Given the description of an element on the screen output the (x, y) to click on. 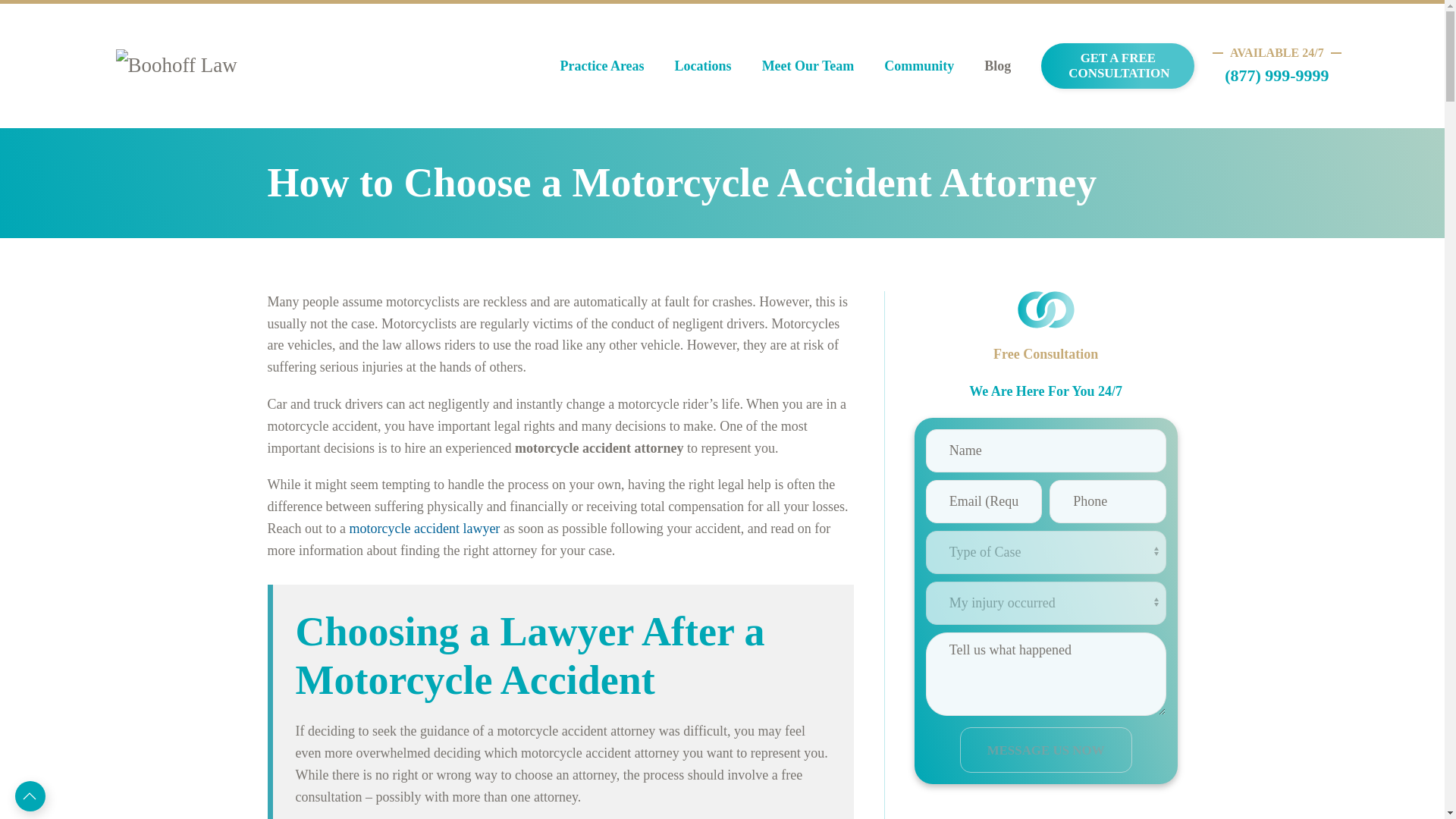
Message Us Now (1045, 750)
Practice Areas (601, 65)
Meet Our Team (807, 65)
